Given the description of an element on the screen output the (x, y) to click on. 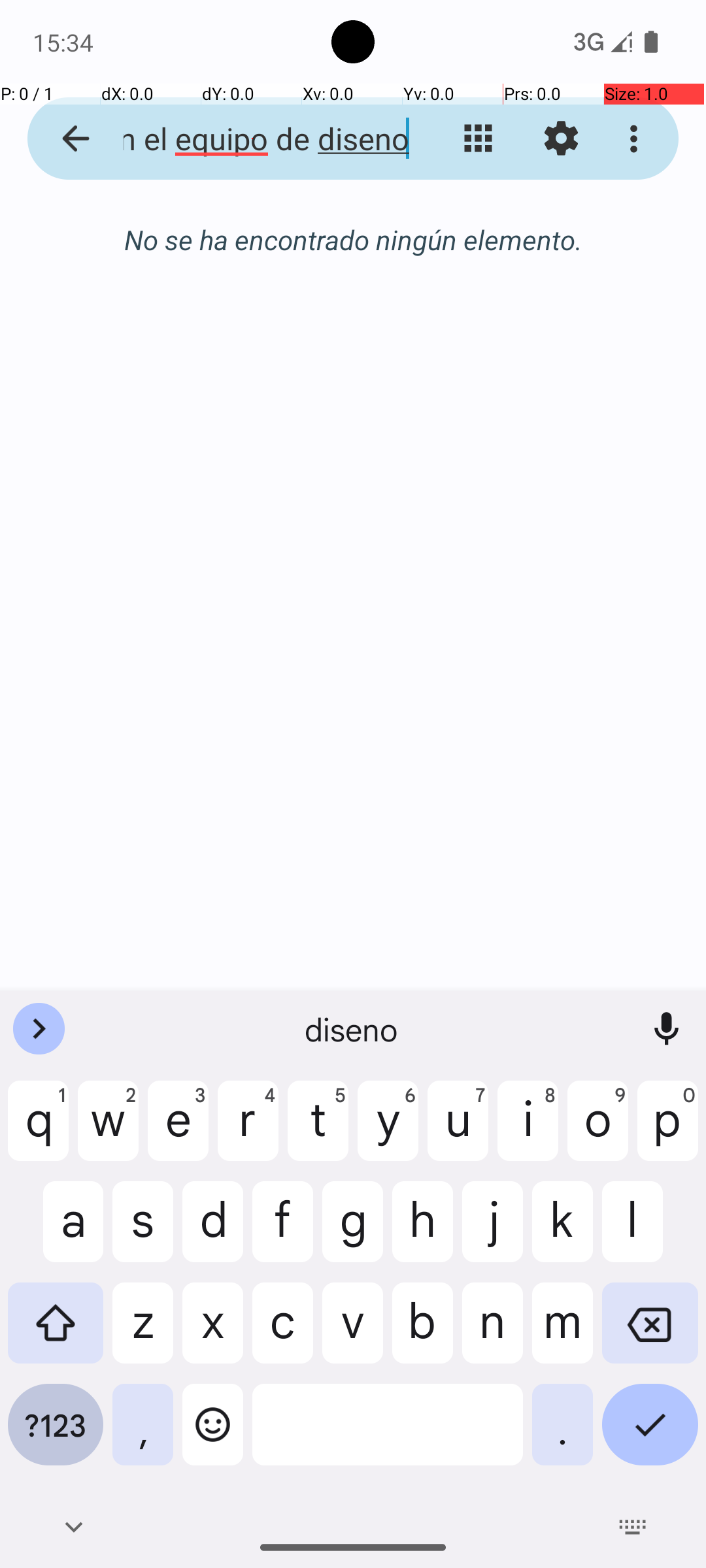
Reunion con el equipo de diseno Element type: android.widget.EditText (252, 138)
diseno Element type: android.widget.FrameLayout (352, 1028)
